Given the description of an element on the screen output the (x, y) to click on. 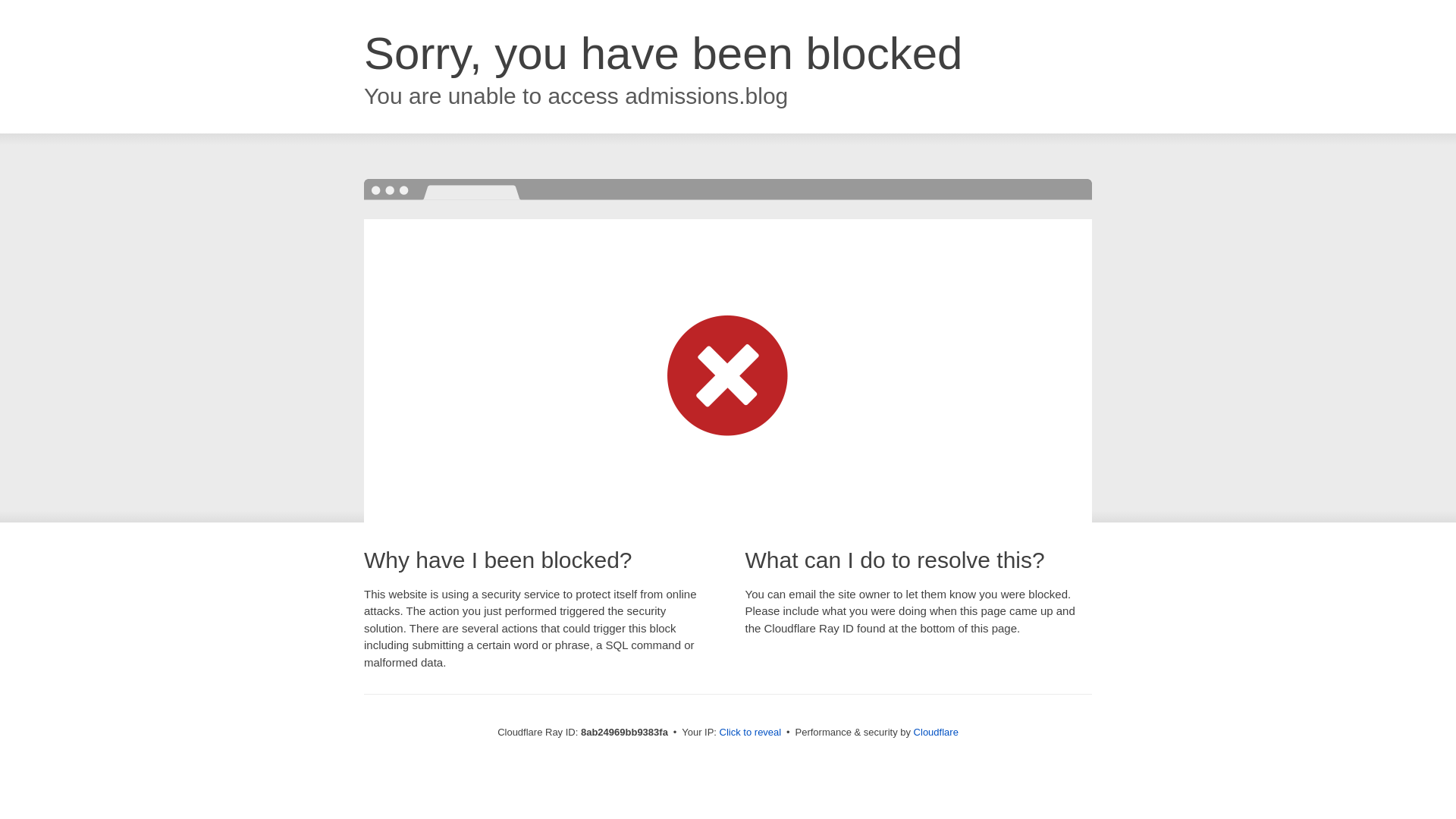
Cloudflare (936, 731)
Click to reveal (750, 732)
